Given the description of an element on the screen output the (x, y) to click on. 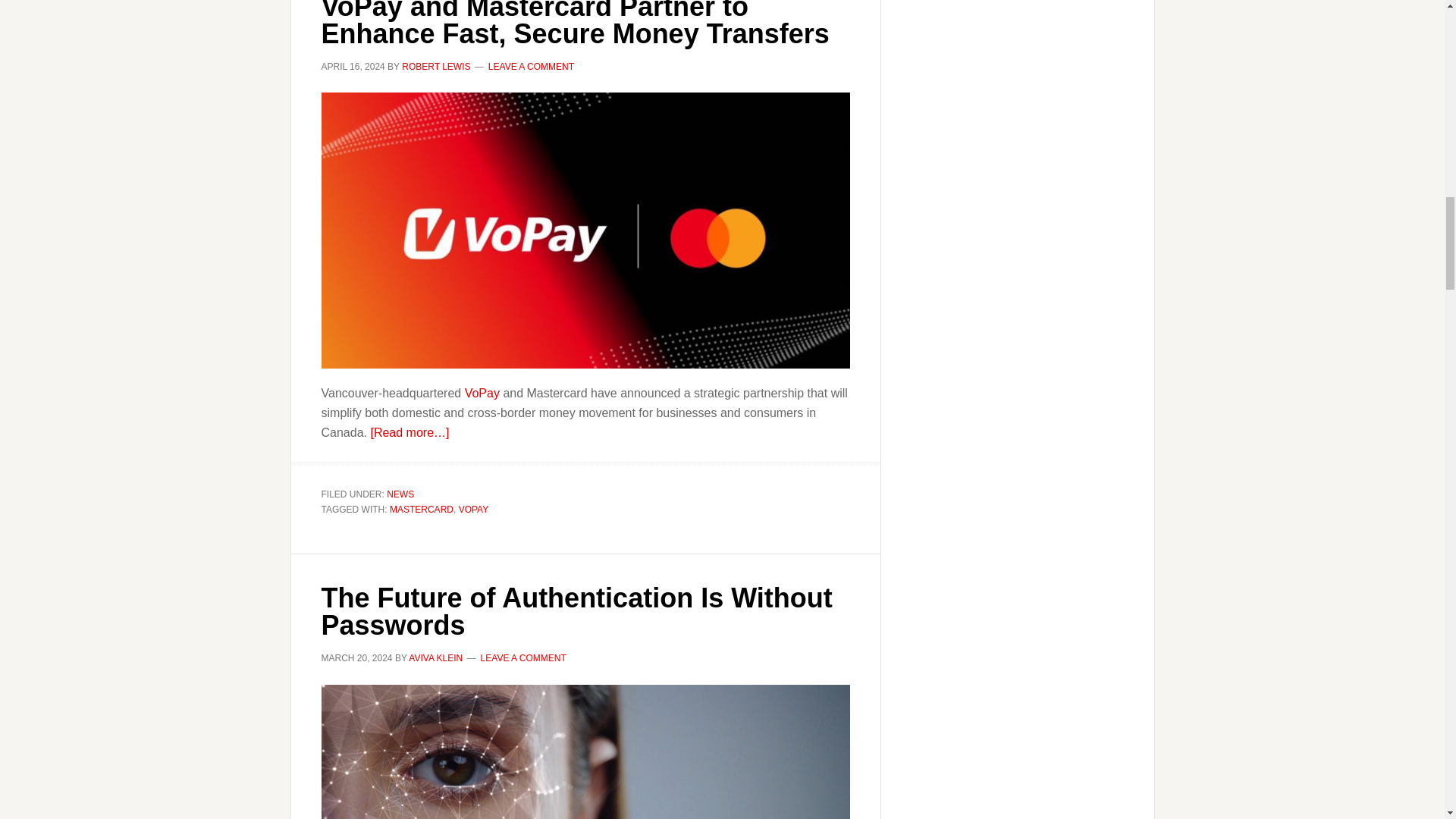
VoPay (481, 392)
ROBERT LEWIS (435, 66)
LEAVE A COMMENT (530, 66)
